Given the description of an element on the screen output the (x, y) to click on. 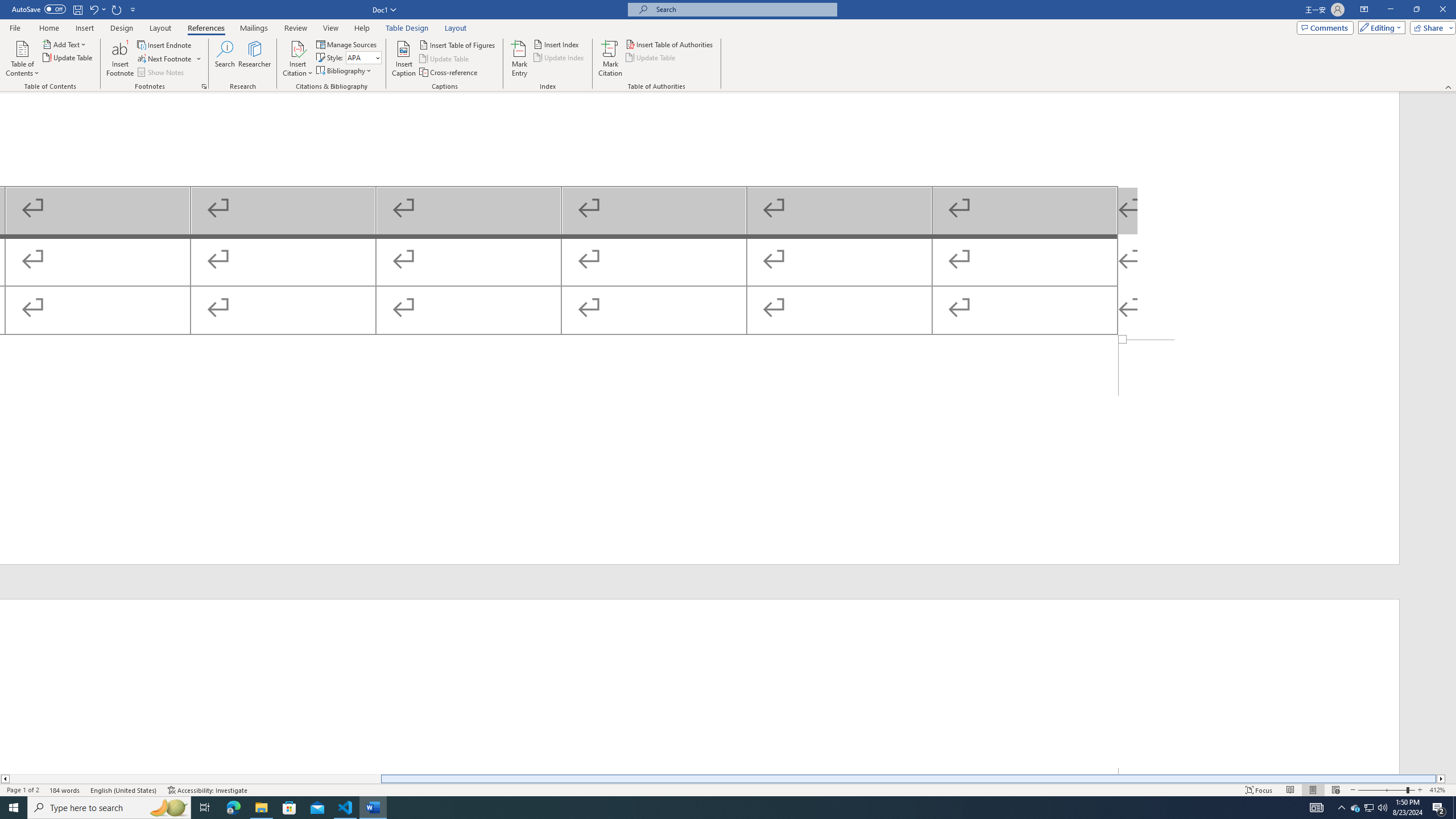
Cross-reference... (448, 72)
Mark Entry... (519, 58)
Manage Sources... (347, 44)
Language English (United States) (123, 790)
Insert Table of Authorities... (670, 44)
Page left (195, 778)
Mark Citation... (610, 58)
Add Text (65, 44)
Insert Footnote (119, 58)
